Given the description of an element on the screen output the (x, y) to click on. 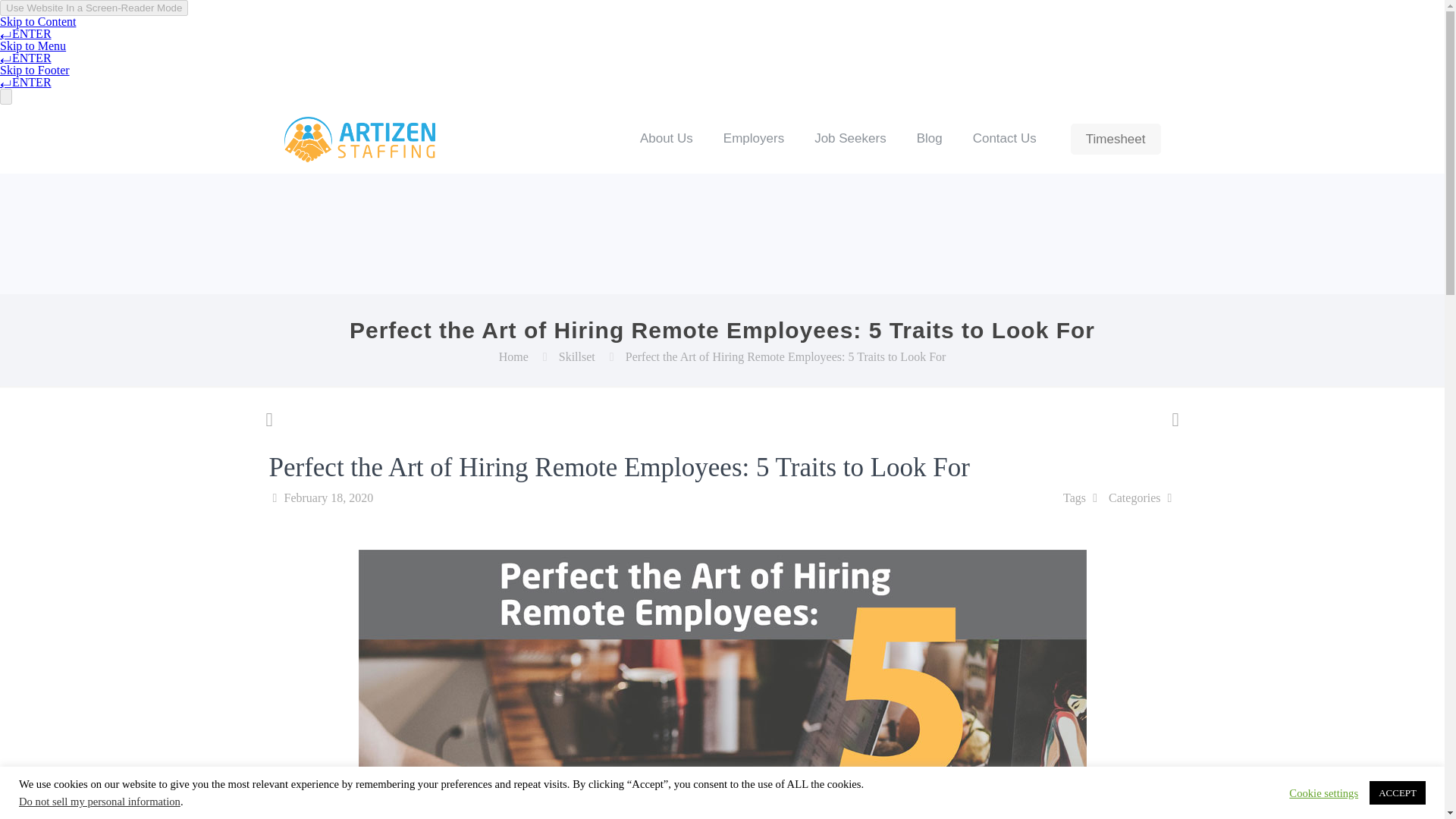
Skillset (577, 356)
Job Seekers (850, 138)
Home (513, 356)
About Us (665, 138)
Contact Us (1004, 138)
Timesheet (1115, 137)
Artizen Staffing (359, 138)
Employers (753, 138)
